Given the description of an element on the screen output the (x, y) to click on. 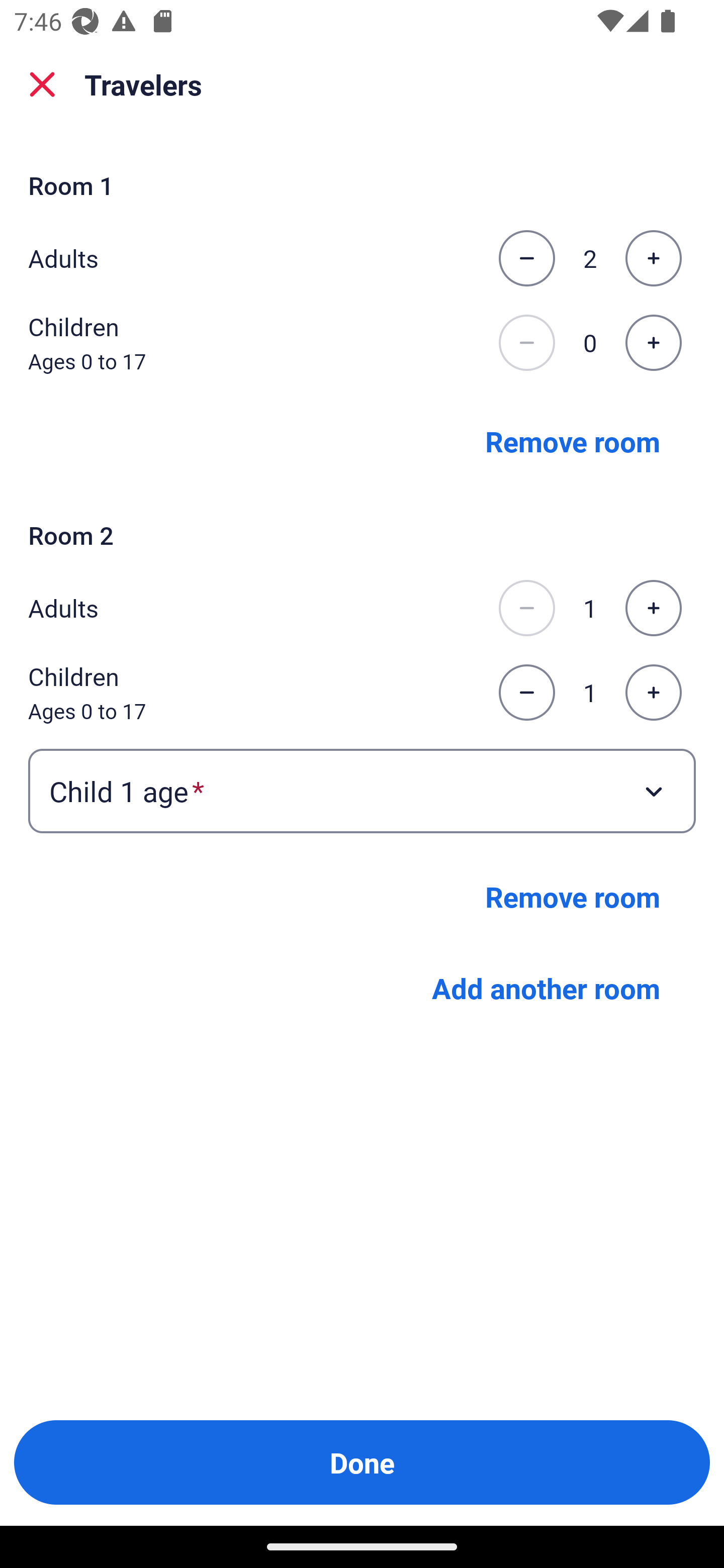
close (42, 84)
Decrease the number of adults (526, 258)
Increase the number of adults (653, 258)
Decrease the number of children (526, 343)
Increase the number of children (653, 343)
Remove room (572, 440)
Decrease the number of adults (526, 608)
Increase the number of adults (653, 608)
Decrease the number of children (526, 692)
Increase the number of children (653, 692)
Child 1 age required Button (361, 790)
Remove room (572, 896)
Add another room (545, 987)
Done (361, 1462)
